Given the description of an element on the screen output the (x, y) to click on. 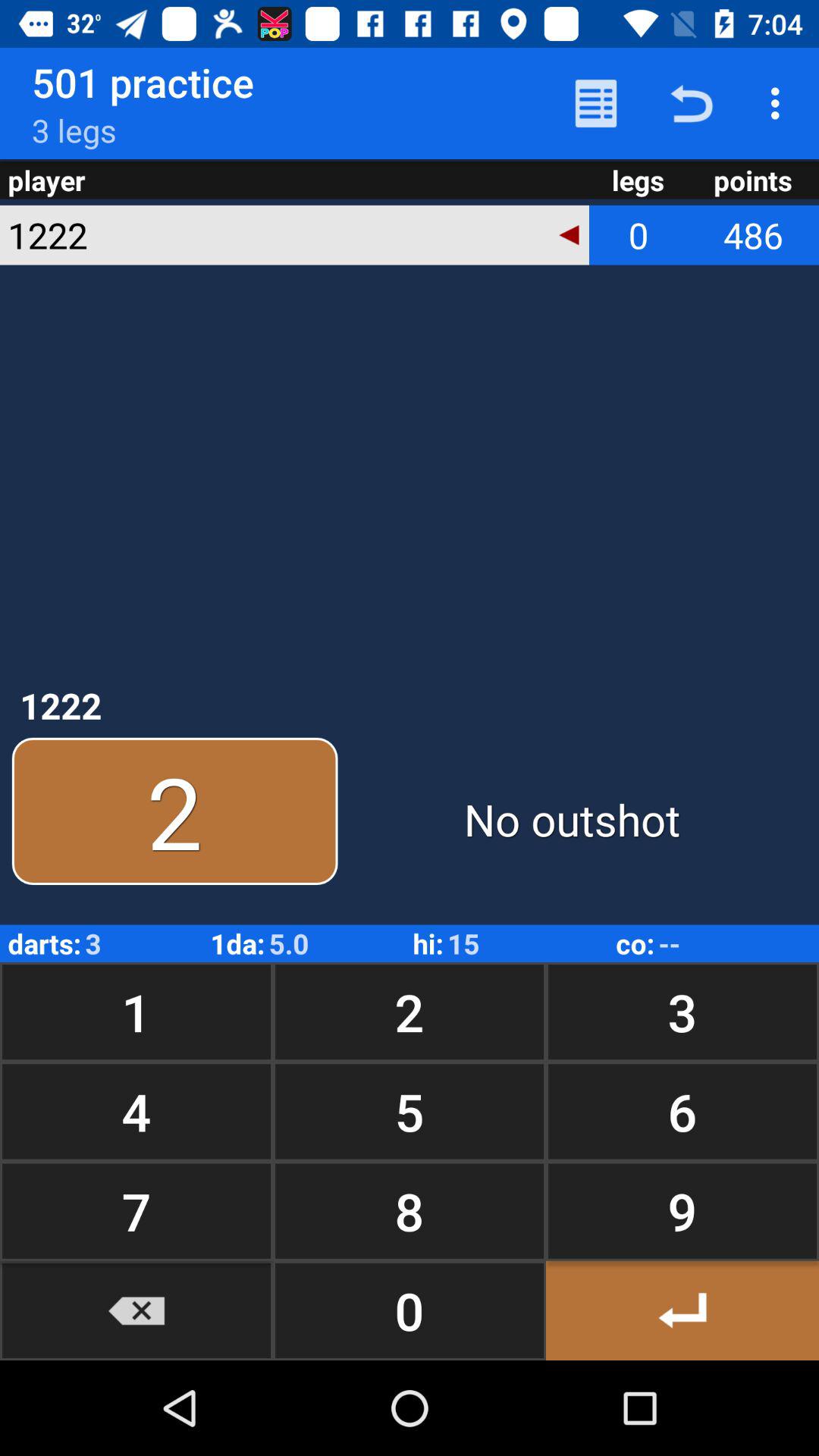
go back (136, 1310)
